Given the description of an element on the screen output the (x, y) to click on. 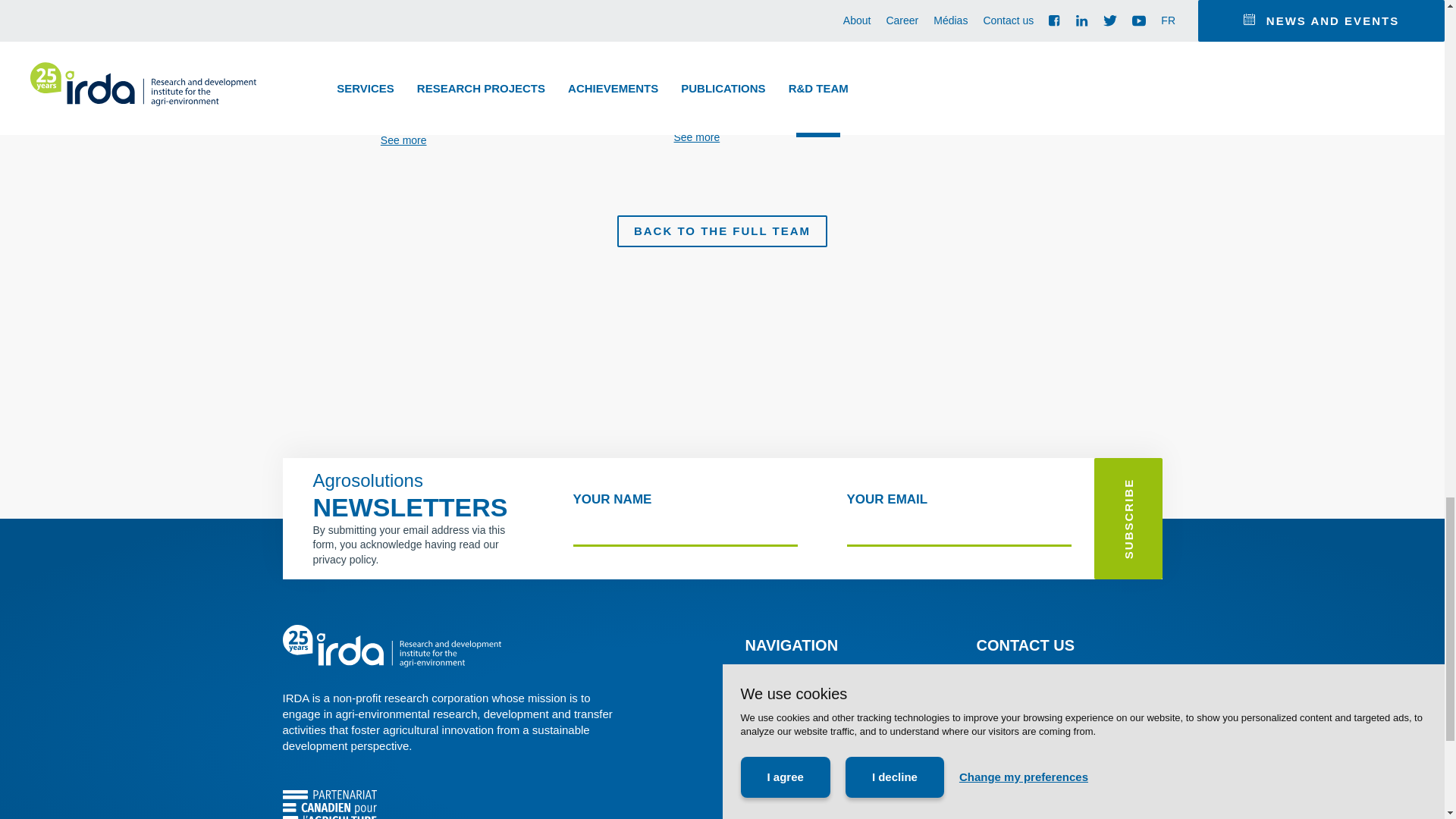
Twitter (1037, 814)
Facebook (982, 814)
YouTube (1066, 814)
LinkedIn (1010, 814)
